Given the description of an element on the screen output the (x, y) to click on. 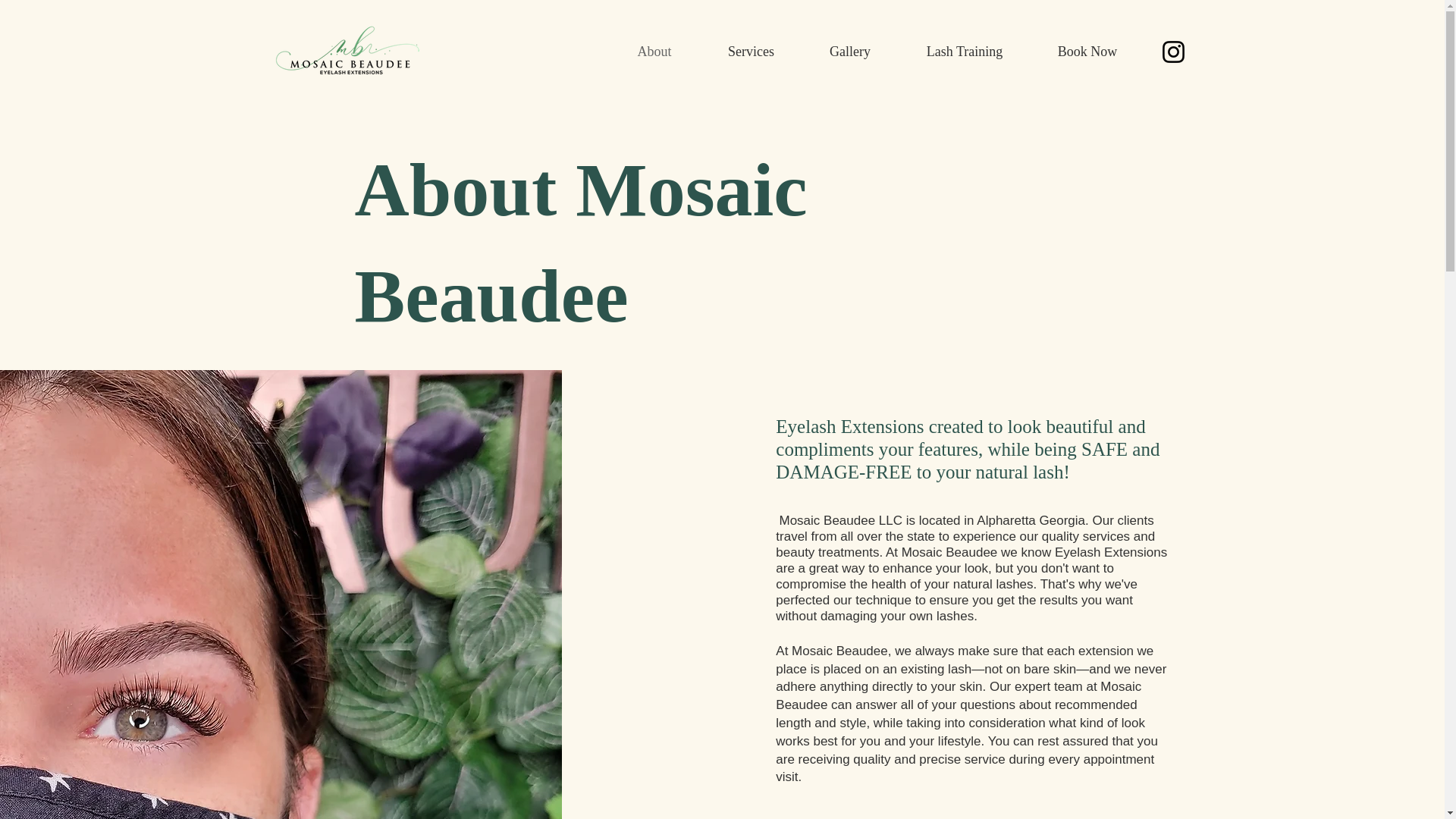
About (654, 51)
Services (750, 51)
Lash Training (964, 51)
Gallery (849, 51)
Book Now (1086, 51)
